Given the description of an element on the screen output the (x, y) to click on. 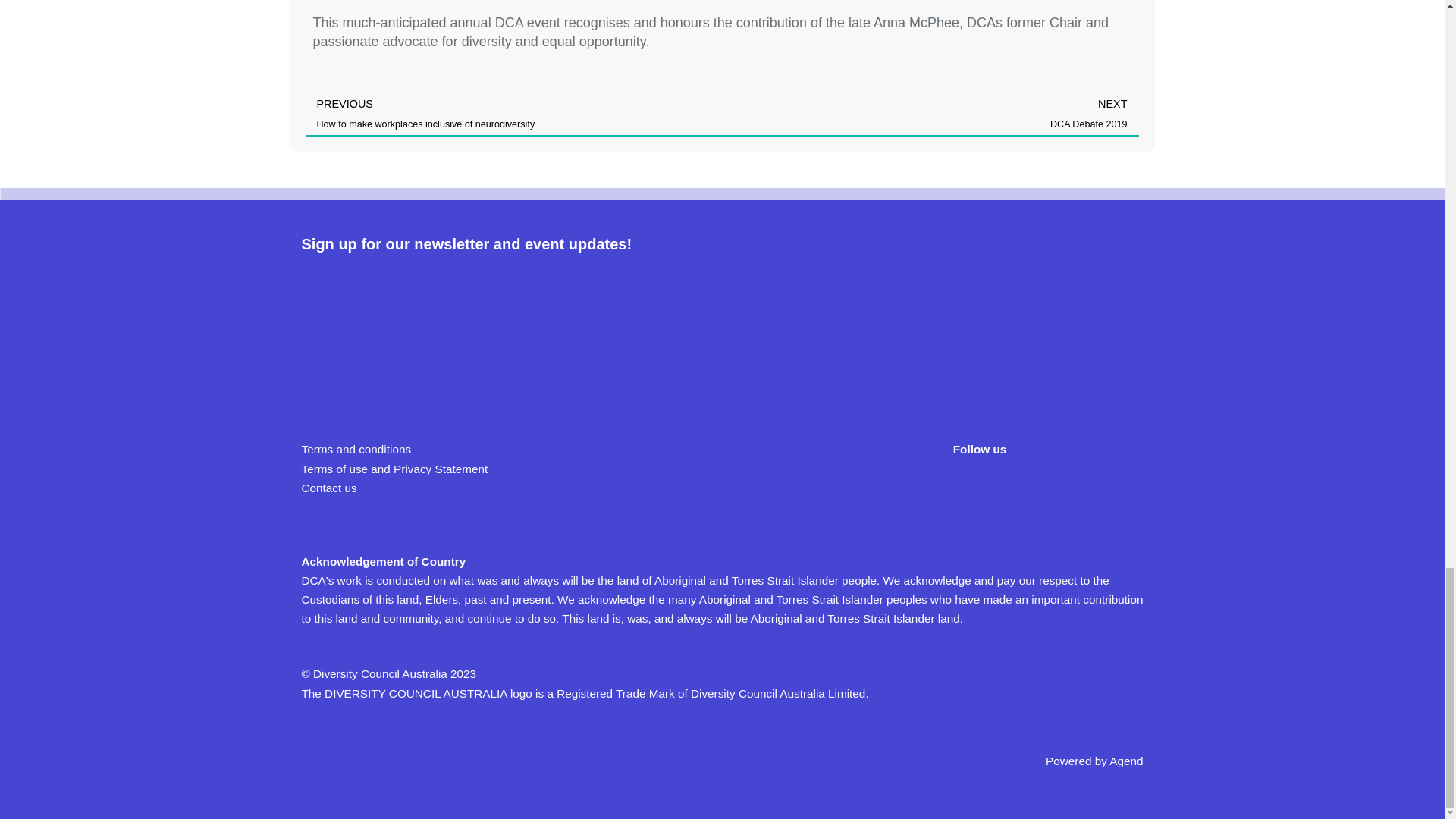
Facebook (968, 486)
Twitter (1013, 486)
LinkedIn (1056, 486)
Instagram (1100, 486)
